Given the description of an element on the screen output the (x, y) to click on. 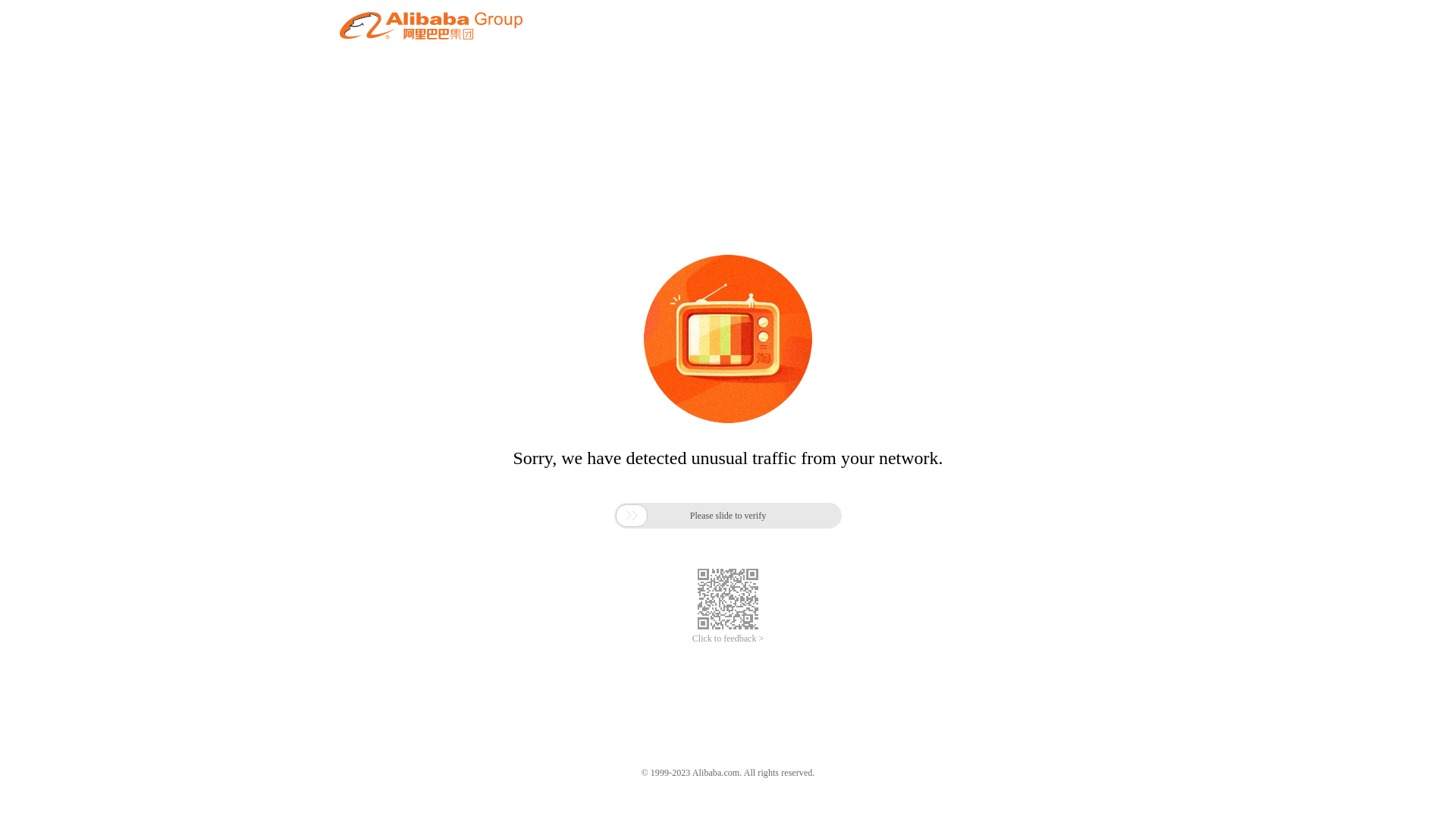
Click to feedback > Element type: text (727, 638)
